Given the description of an element on the screen output the (x, y) to click on. 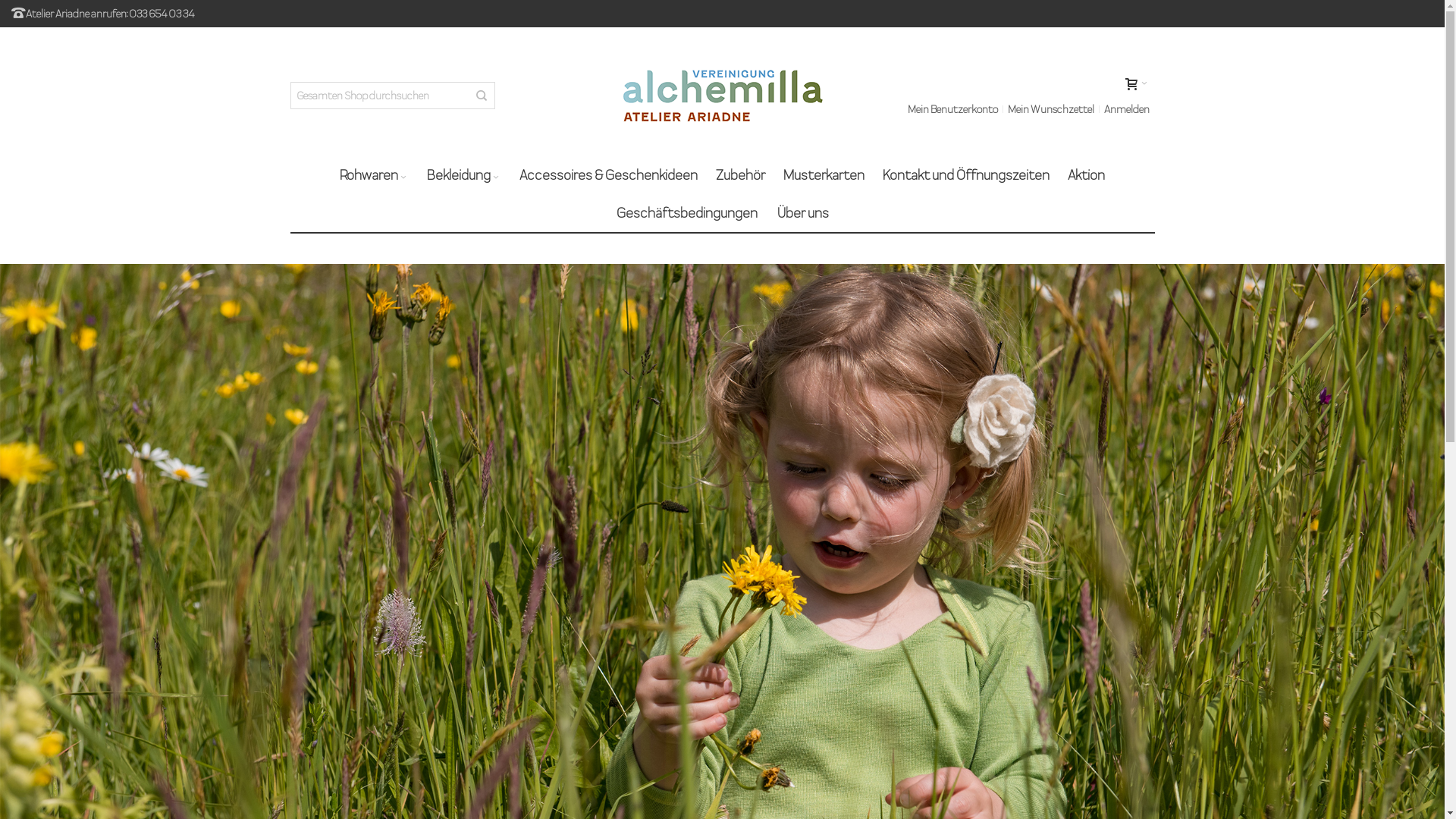
Aktion Element type: text (1085, 175)
Rohwaren Element type: text (373, 175)
Musterkarten Element type: text (823, 175)
Atelier Ariadne Element type: hover (721, 95)
Accessoires & Geschenkideen Element type: text (608, 175)
Mein Wunschzettel Element type: text (1050, 108)
Anmelden Element type: text (1126, 108)
Mein Benutzerkonto Element type: text (952, 108)
Bekleidung Element type: text (463, 175)
Suche Element type: hover (481, 95)
